Given the description of an element on the screen output the (x, y) to click on. 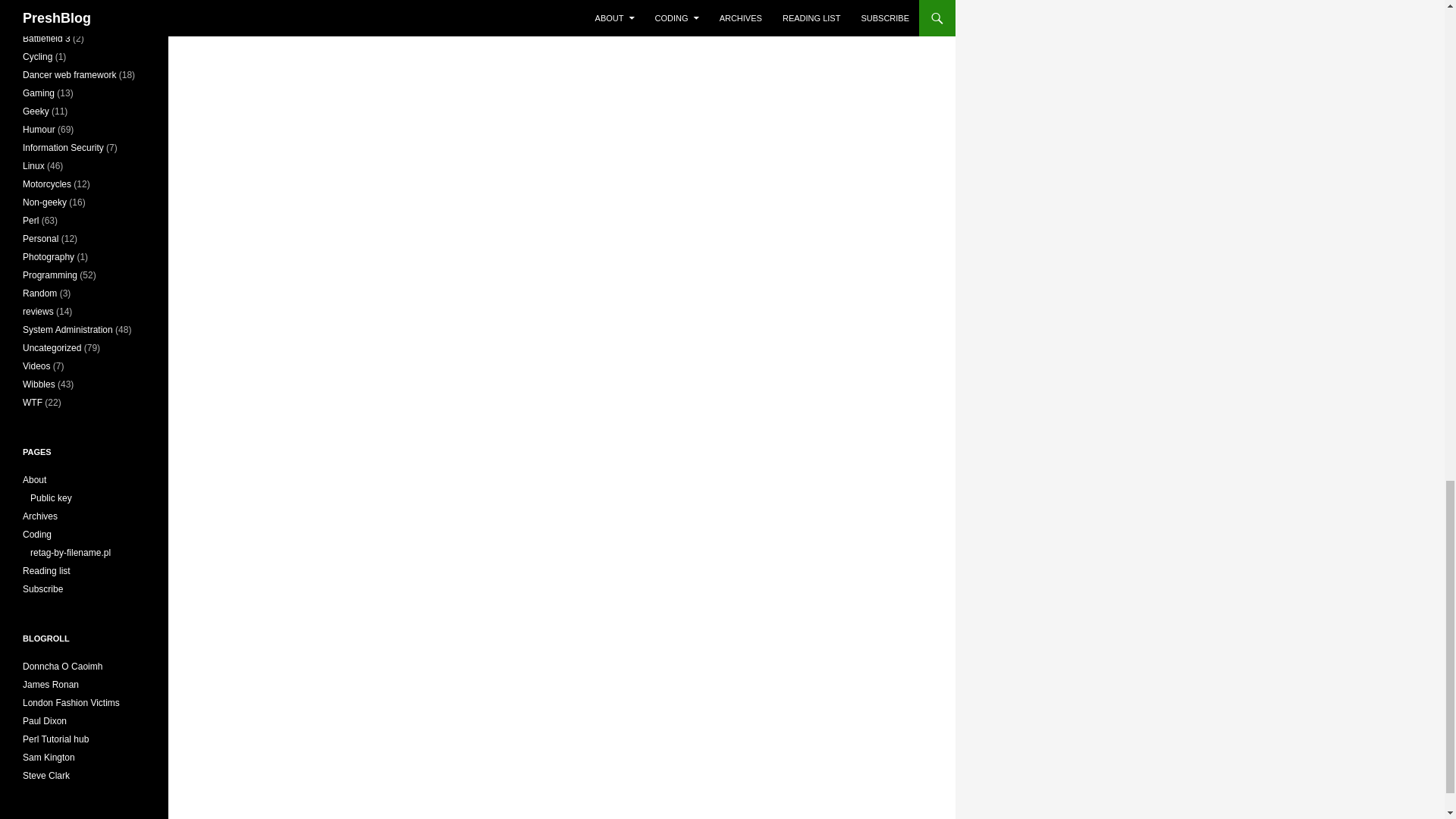
Perl tutorial collection for those looking to learn Perl (55, 738)
See Shoreditch twats in their natural habitat (71, 702)
James Ronan (50, 684)
